Given the description of an element on the screen output the (x, y) to click on. 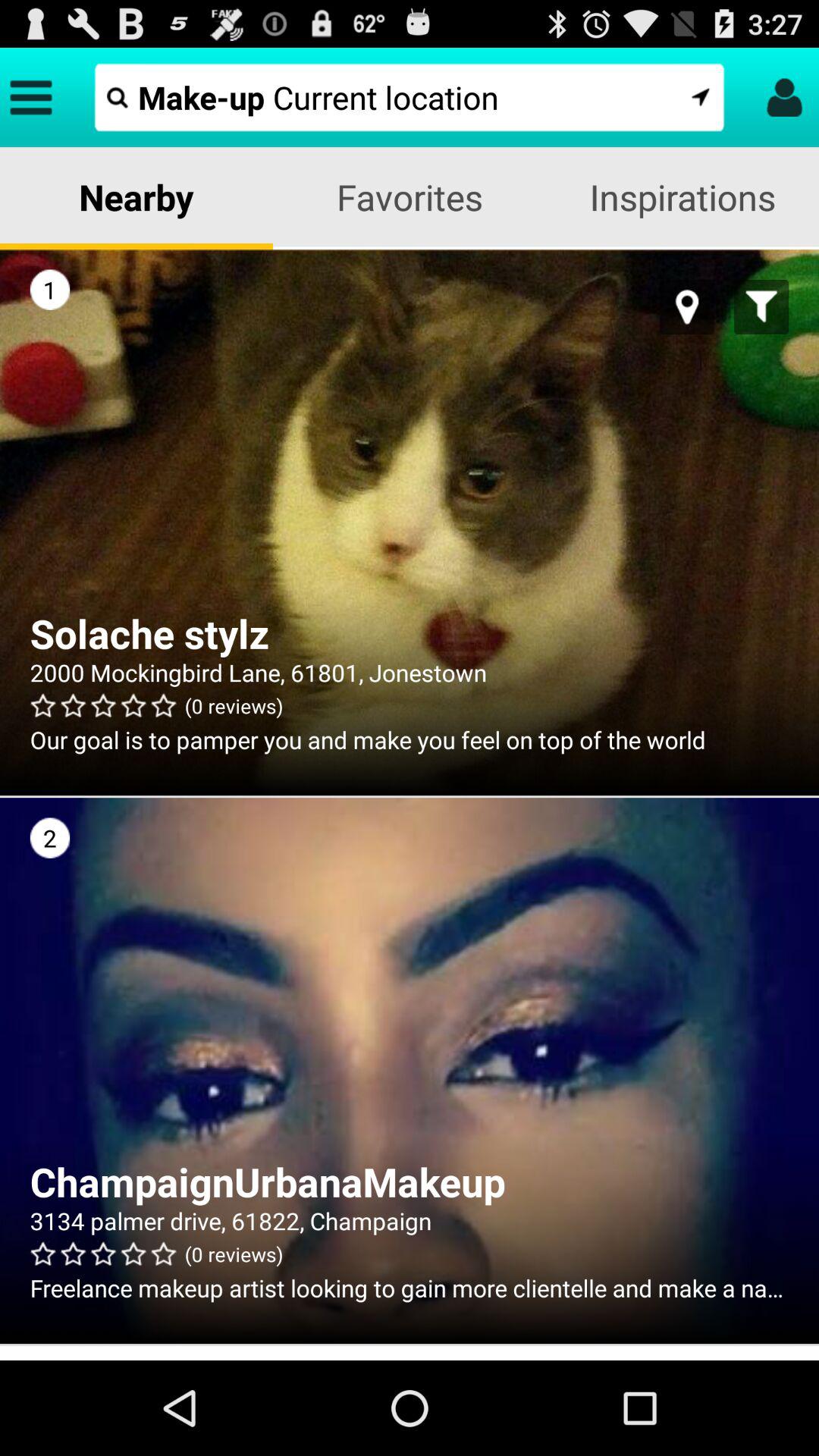
jump until favorites item (409, 196)
